Given the description of an element on the screen output the (x, y) to click on. 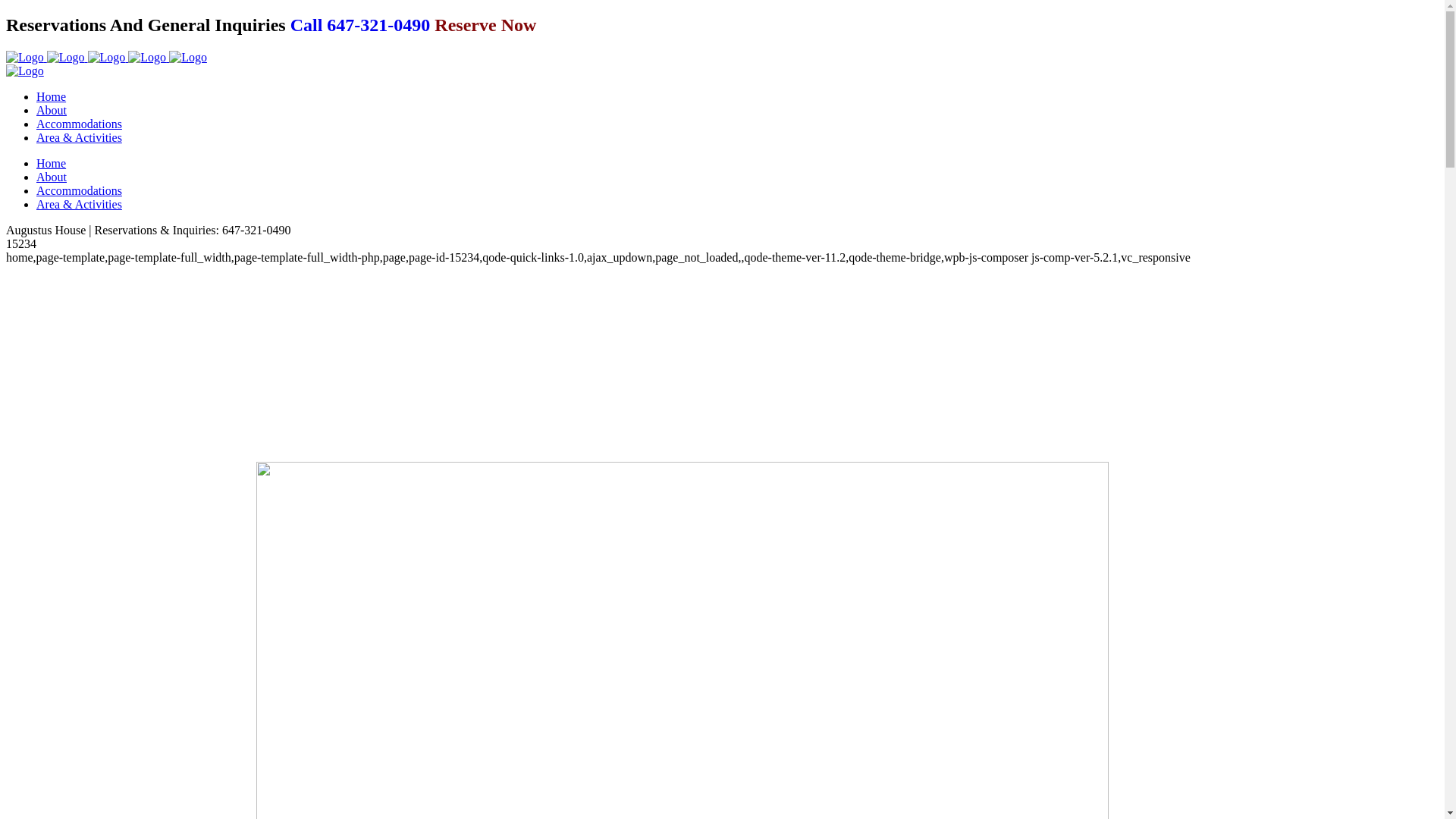
Call 647-321-0490 Element type: text (360, 24)
Accommodations Element type: text (79, 190)
Area & Activities Element type: text (79, 137)
About Element type: text (51, 109)
Home Element type: text (50, 162)
Area & Activities Element type: text (79, 203)
Home Element type: text (50, 96)
Accommodations Element type: text (79, 123)
About Element type: text (51, 176)
Reserve Now Element type: text (485, 24)
